Given the description of an element on the screen output the (x, y) to click on. 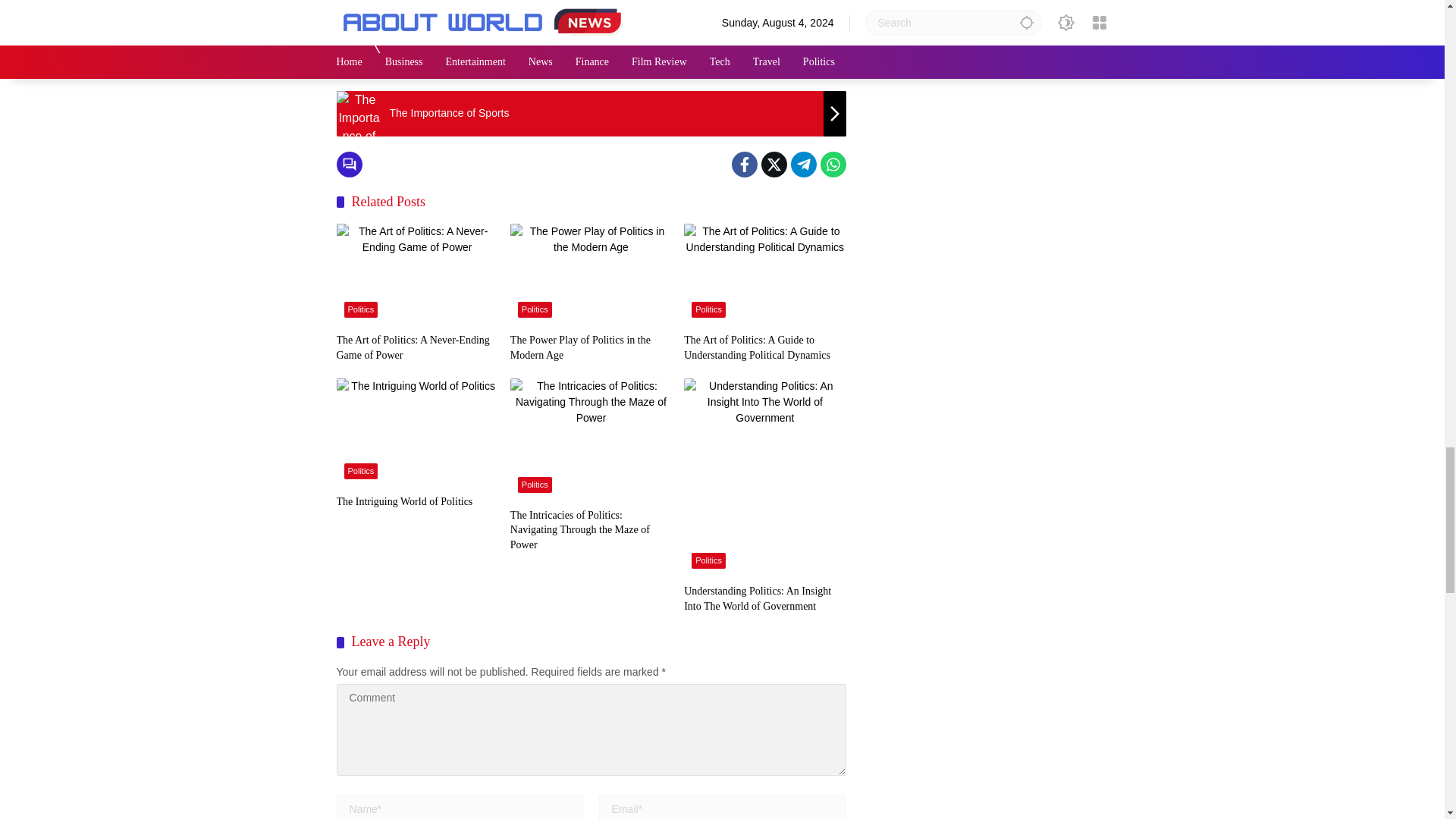
The Importance of Sports (590, 131)
Politics (402, 84)
